Given the description of an element on the screen output the (x, y) to click on. 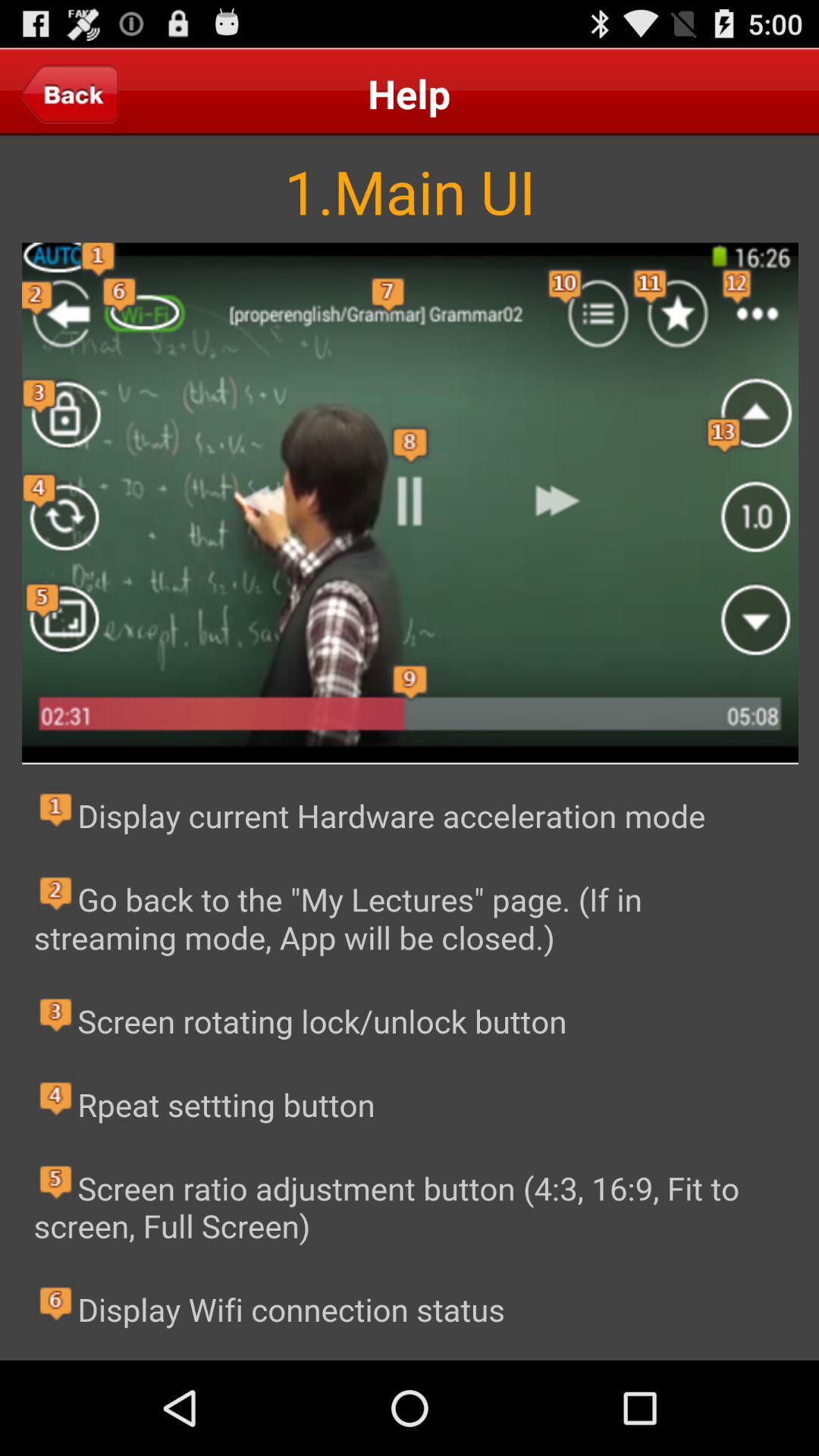
go back (69, 93)
